Given the description of an element on the screen output the (x, y) to click on. 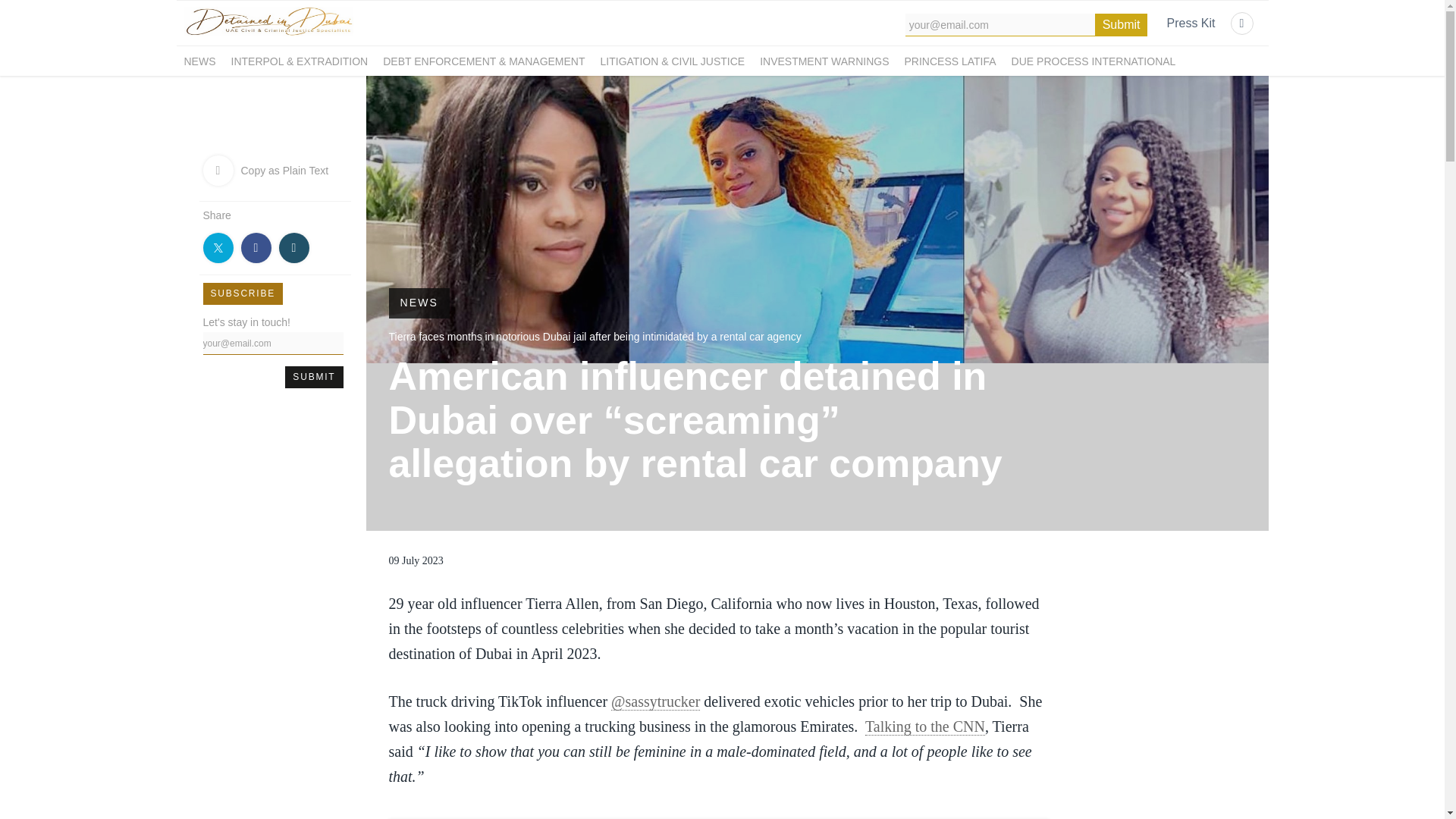
Talking to the CNN (924, 726)
NEWS (199, 61)
Submit (313, 377)
PRINCESS LATIFA (949, 61)
DUE PROCESS INTERNATIONAL (1093, 61)
Press Kit (1190, 23)
Submit (1121, 24)
INVESTMENT WARNINGS (824, 61)
Copy as Plain Text (274, 170)
Submit (313, 377)
